Given the description of an element on the screen output the (x, y) to click on. 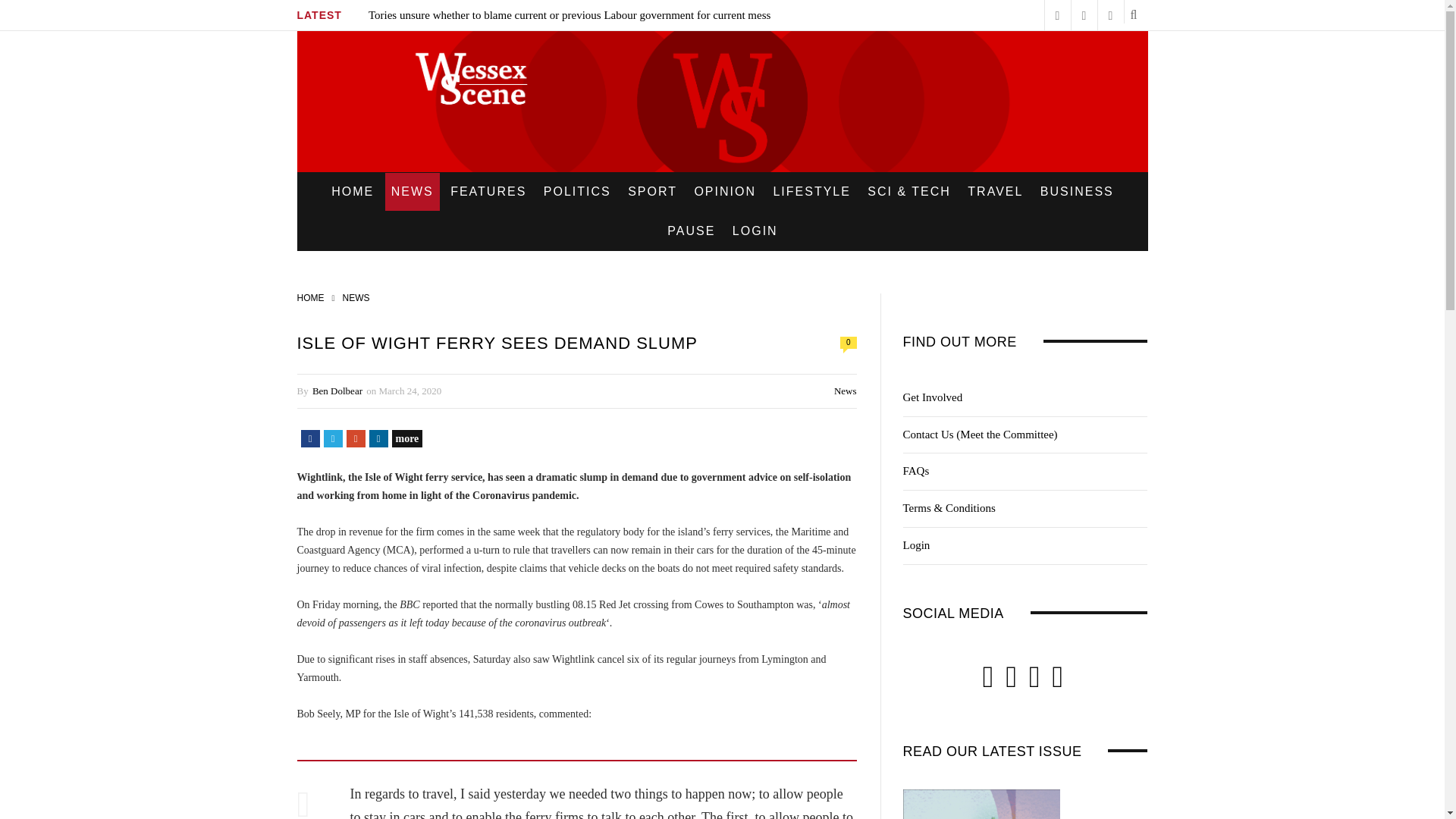
NEWS (355, 297)
TRAVEL (994, 191)
PAUSE (690, 231)
Twitter (332, 438)
Facebook (308, 438)
News (845, 390)
HOME (310, 297)
Share on Facebook (308, 438)
OPINION (724, 191)
